Given the description of an element on the screen output the (x, y) to click on. 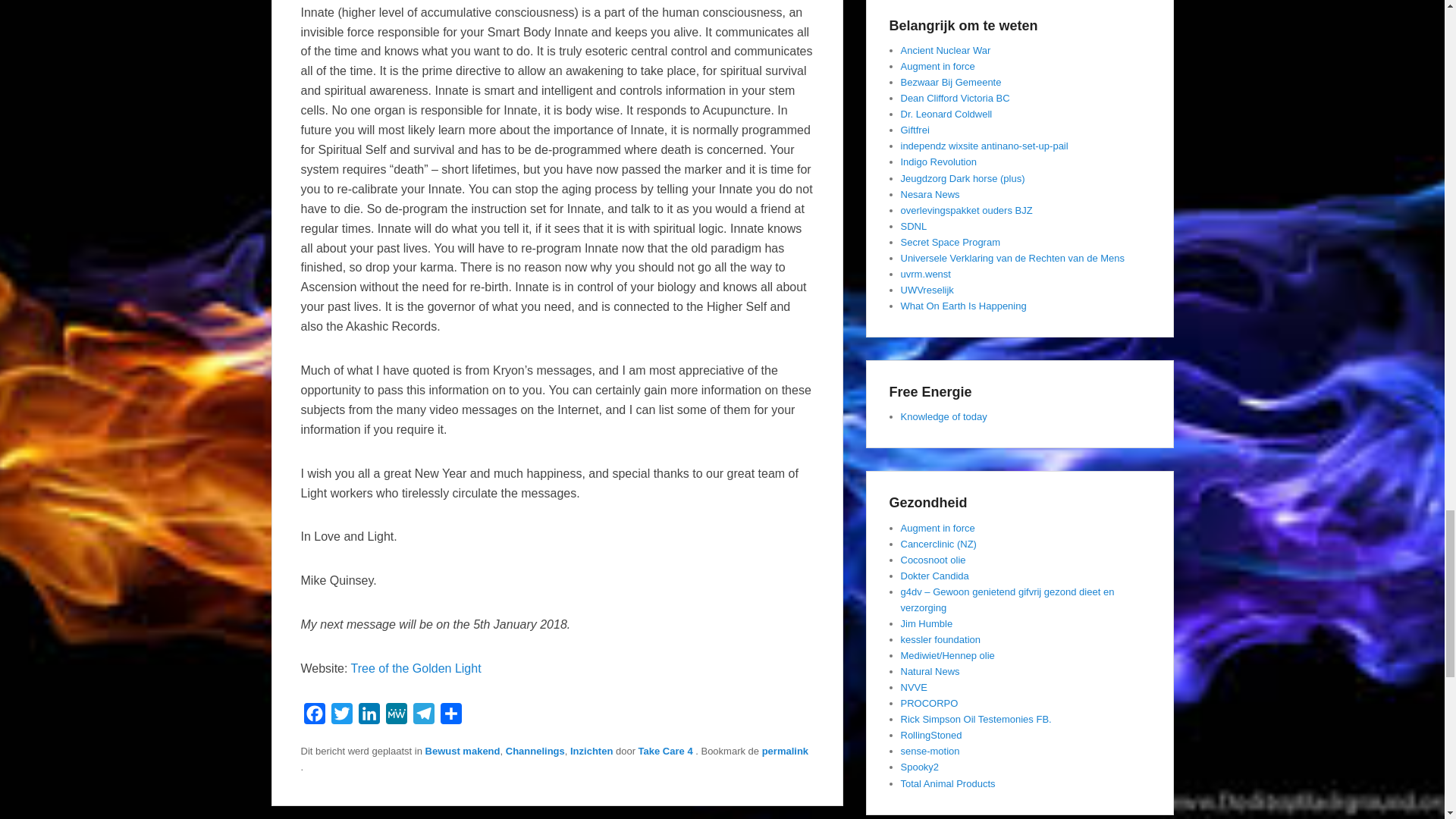
Permalink om A Message from Mike Quinsey (784, 750)
MeWe (395, 716)
LinkedIn (368, 716)
Telegram (422, 716)
Twitter (341, 716)
Facebook (313, 716)
